Given the description of an element on the screen output the (x, y) to click on. 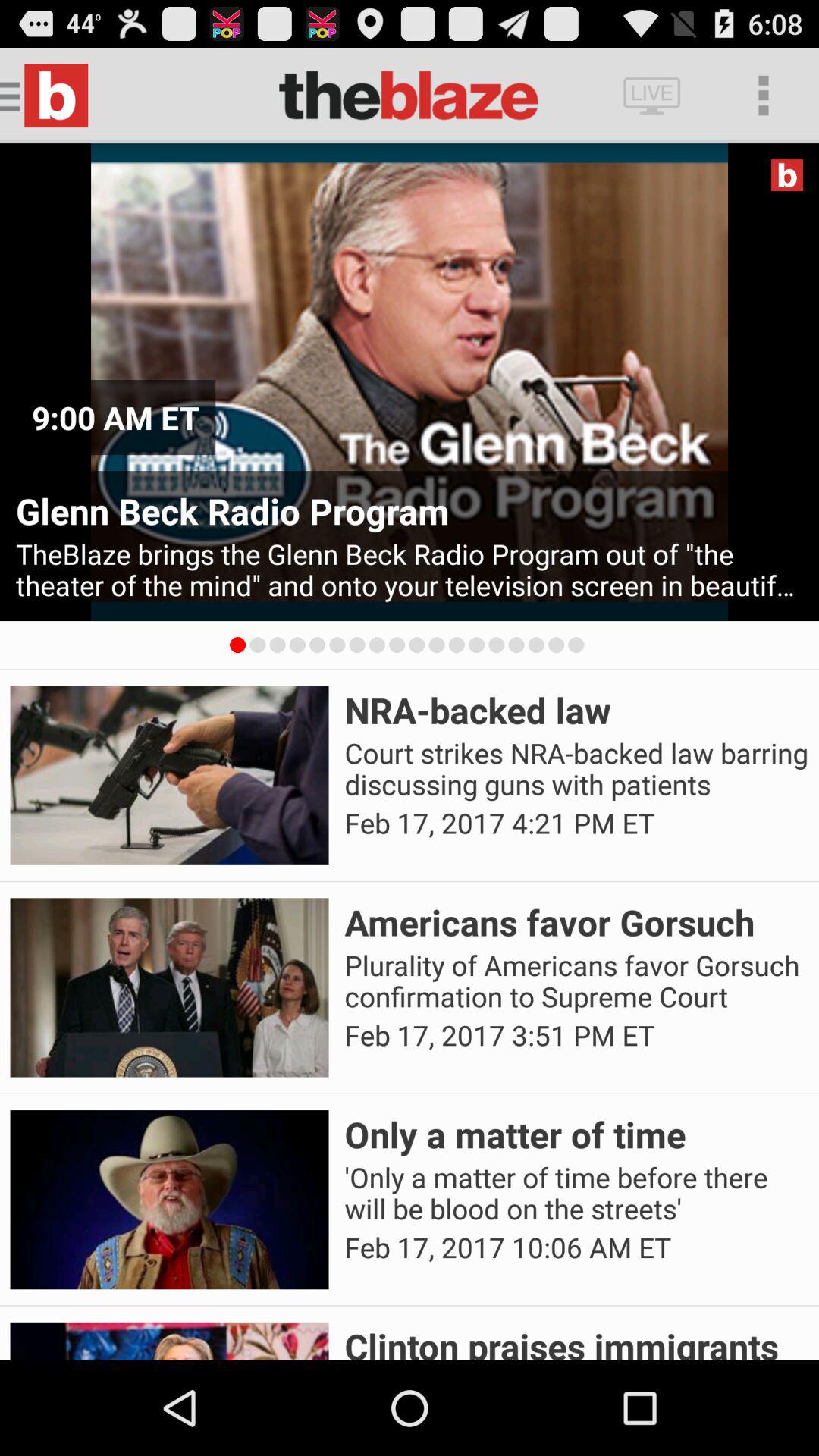
click the image left to nrabacked law (169, 774)
select the text which is left side of the live button (408, 95)
